Given the description of an element on the screen output the (x, y) to click on. 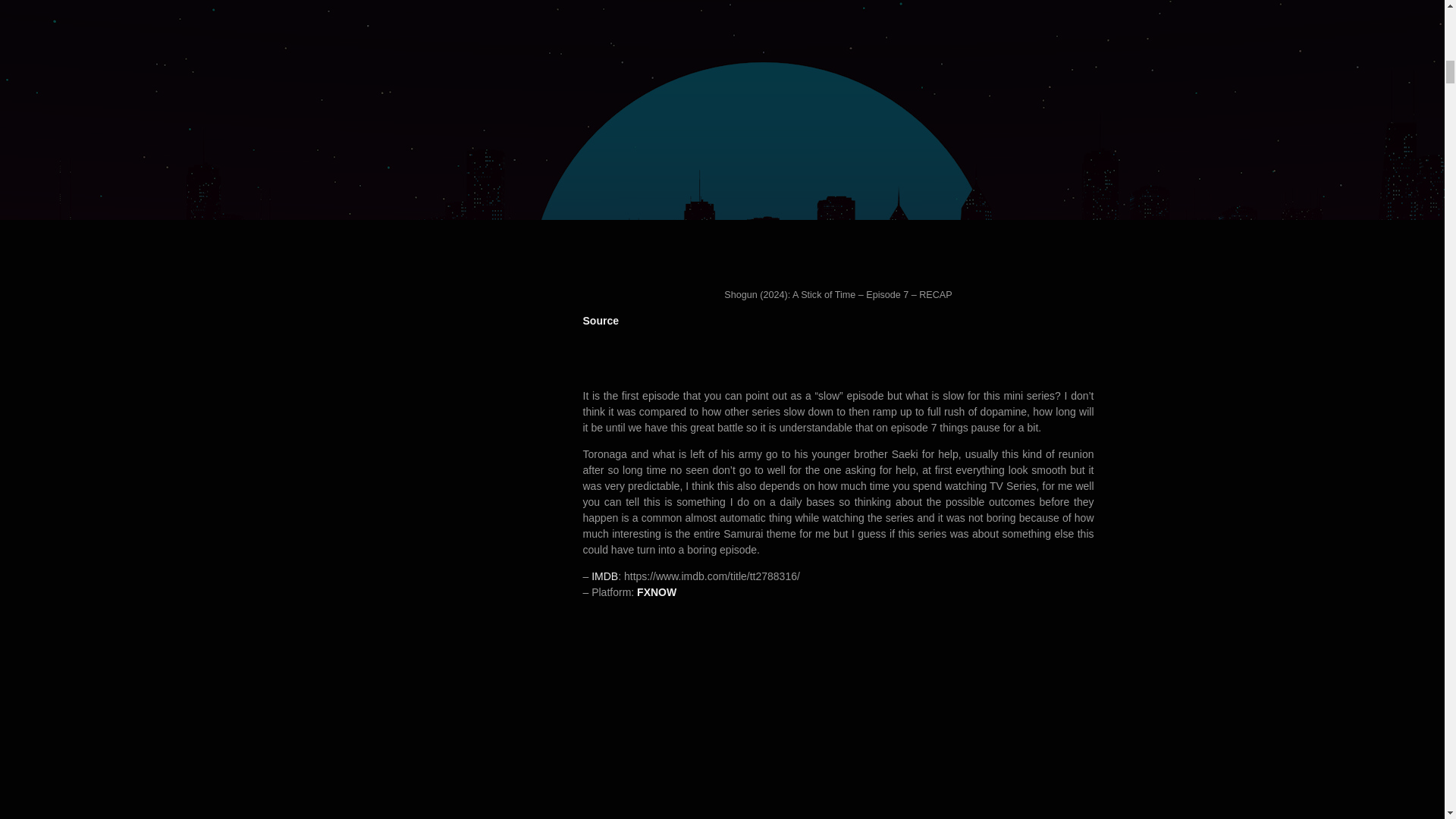
IMDB (604, 576)
